Given the description of an element on the screen output the (x, y) to click on. 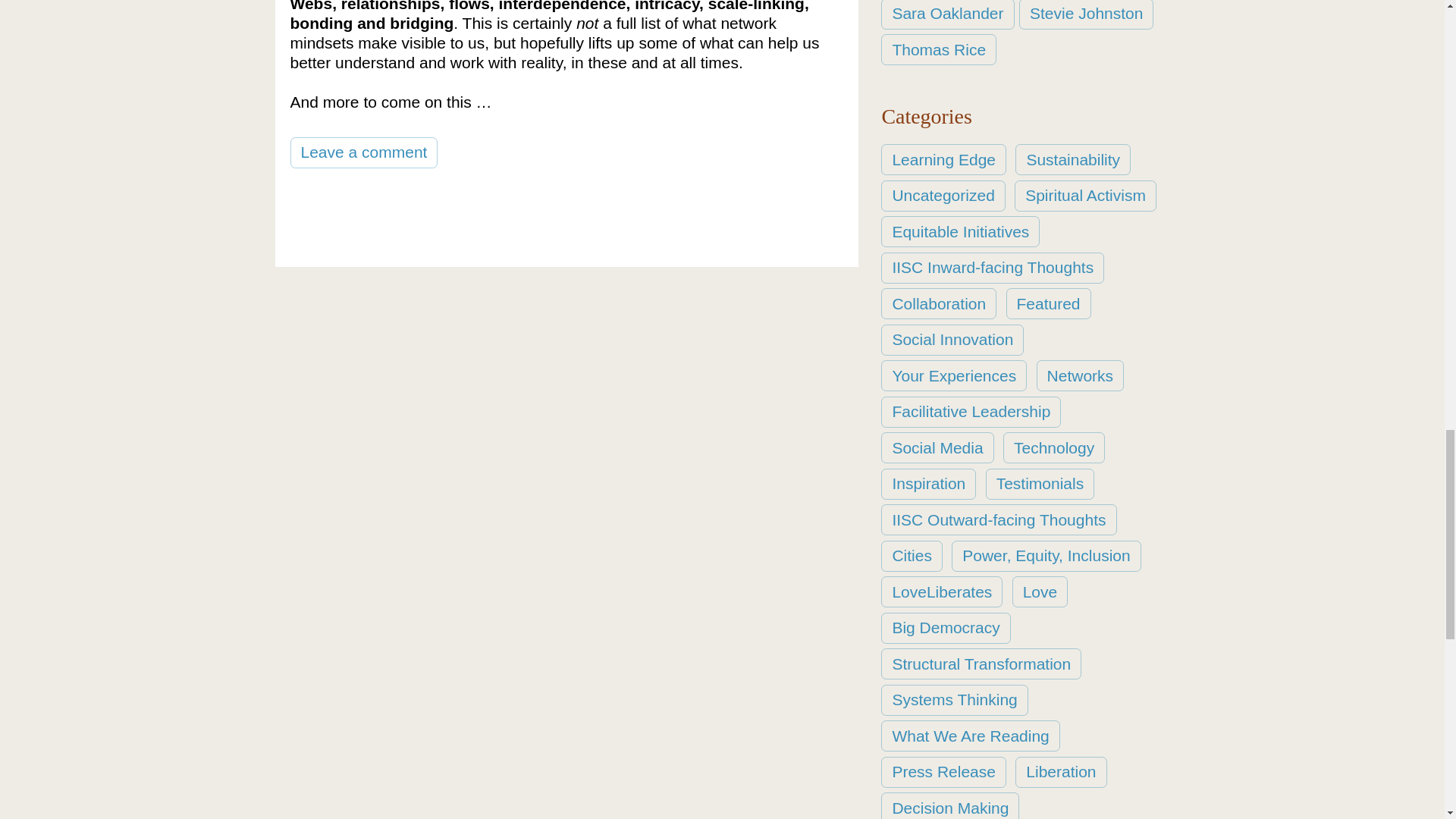
Leave a comment (363, 151)
